Given the description of an element on the screen output the (x, y) to click on. 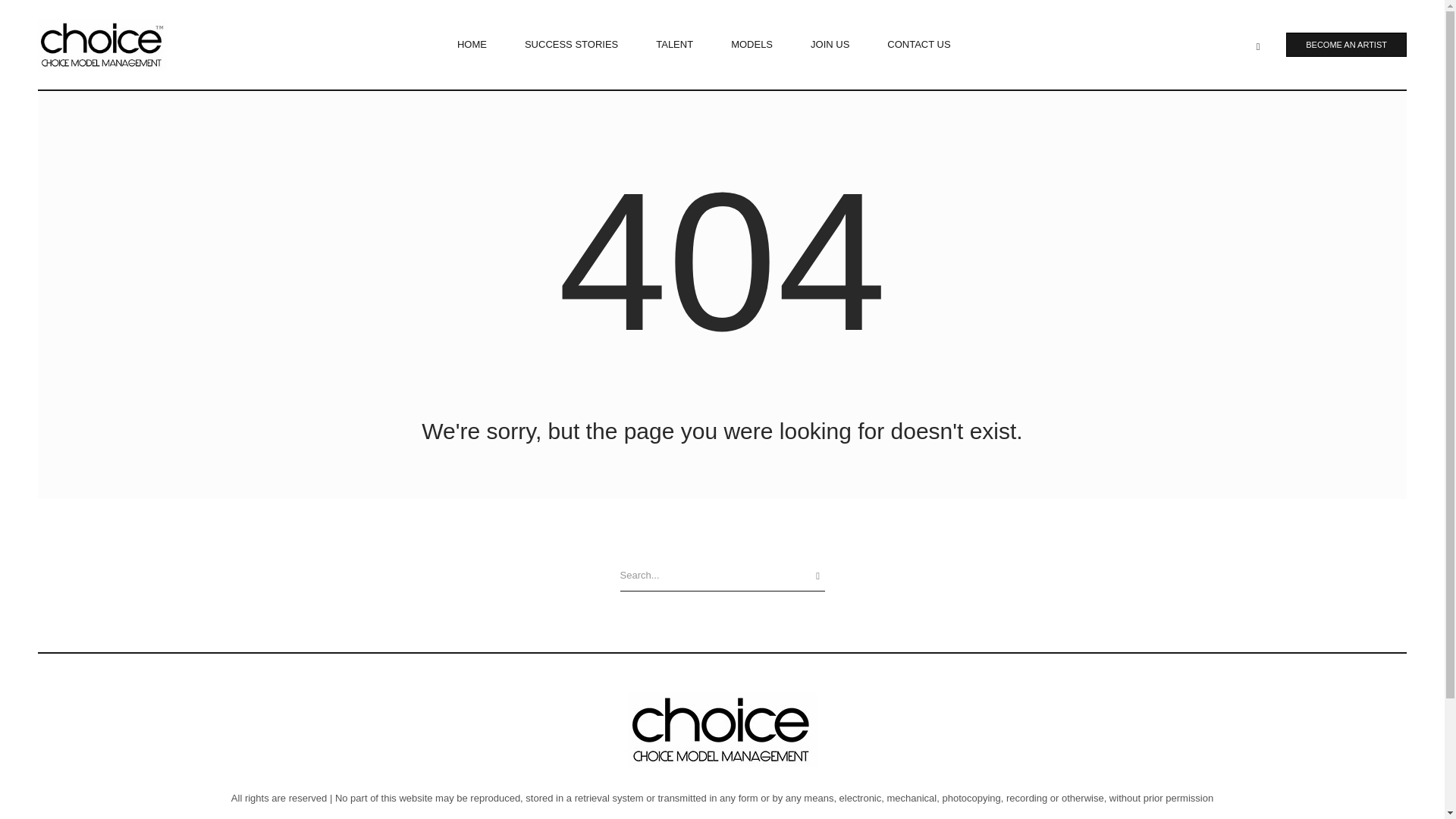
MODELS (751, 44)
BECOME AN ARTIST (1345, 44)
Choice Model Management (721, 729)
SUCCESS STORIES (571, 44)
CONTACT US (918, 44)
